Given the description of an element on the screen output the (x, y) to click on. 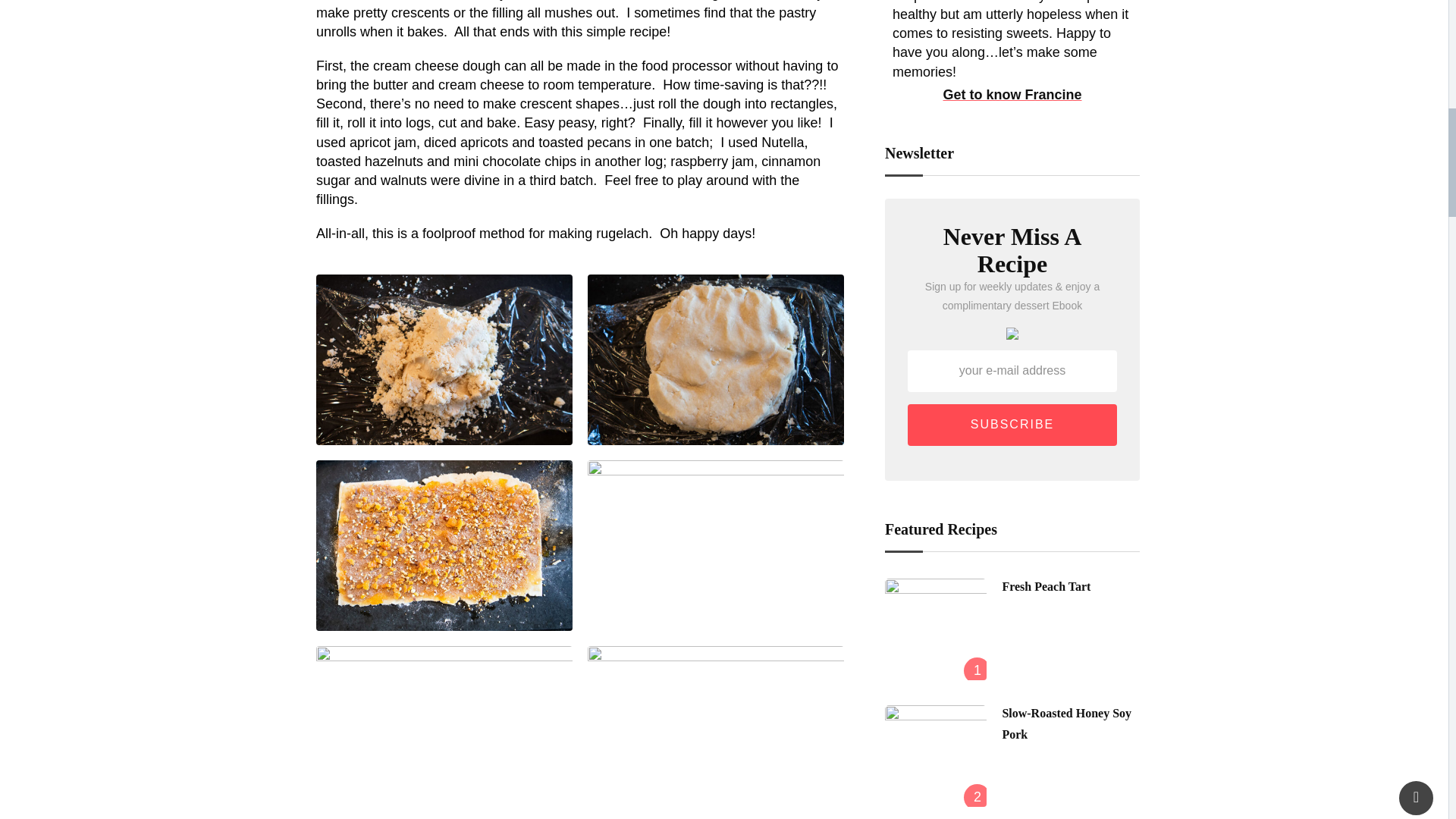
Fresh Peach Tart (936, 629)
Slow-Roasted Honey Soy Pork (936, 755)
